Given the description of an element on the screen output the (x, y) to click on. 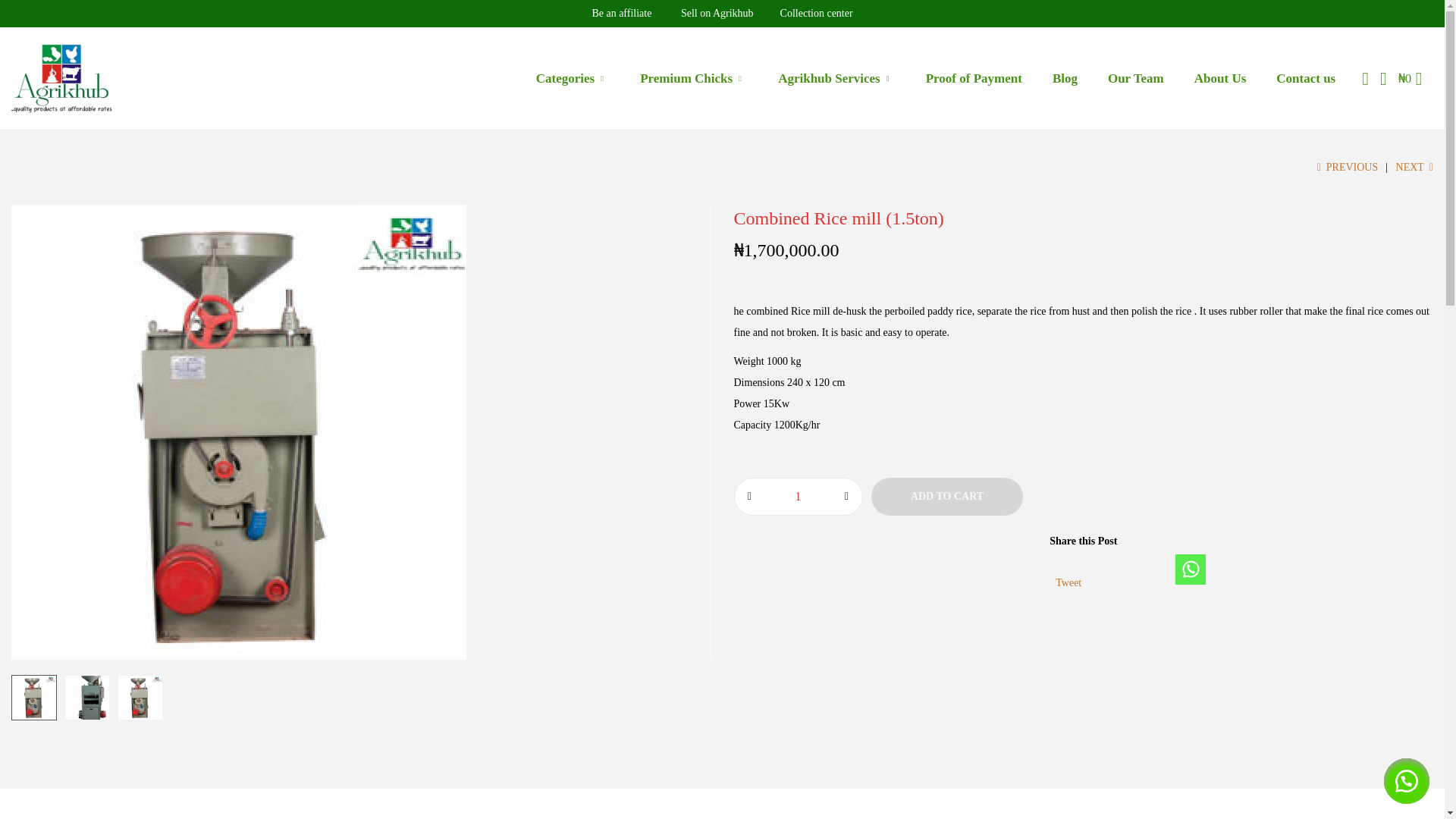
1 (797, 496)
Whatsapp (1189, 569)
Categories (572, 77)
Sell on Agrikhub (718, 12)
Qty (797, 496)
Collection center (816, 12)
Be an affiliate (620, 12)
